Given the description of an element on the screen output the (x, y) to click on. 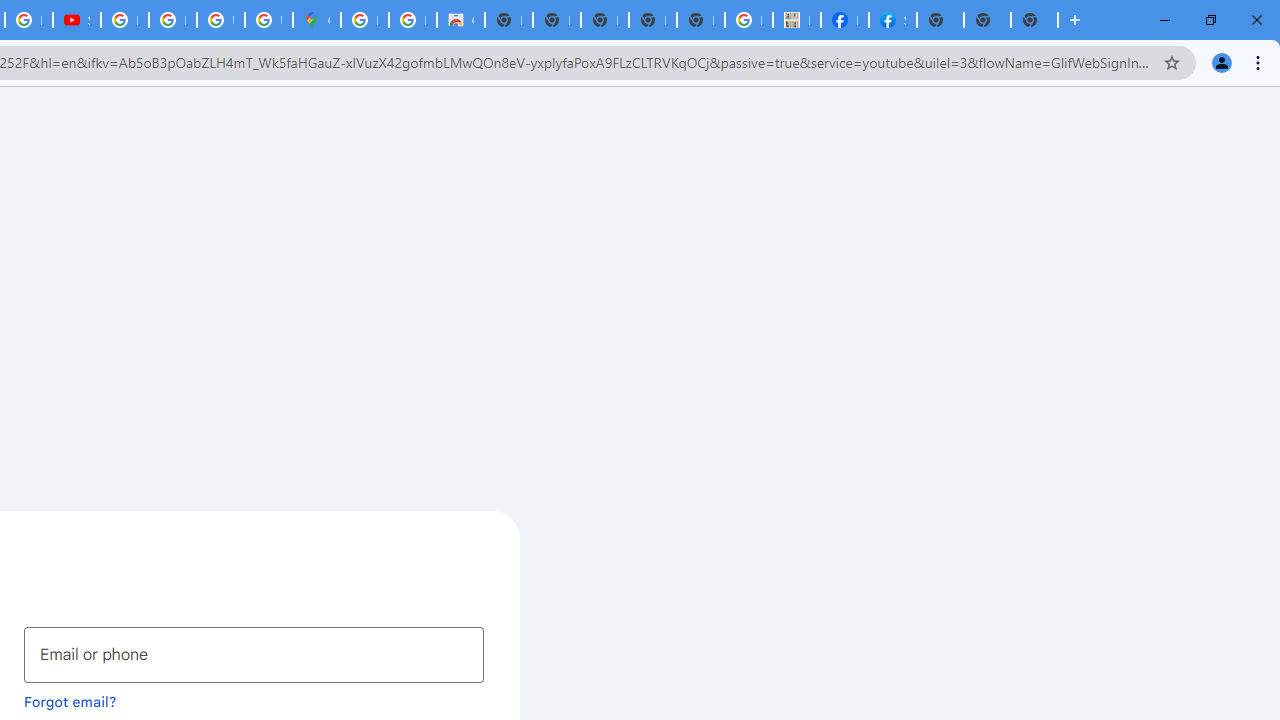
New Tab (939, 20)
How Chrome protects your passwords - Google Chrome Help (124, 20)
Subscriptions - YouTube (76, 20)
Google Maps (316, 20)
New Tab (1034, 20)
Chrome Web Store - Shopping (460, 20)
Sign Up for Facebook (892, 20)
Email or phone (253, 654)
